Given the description of an element on the screen output the (x, y) to click on. 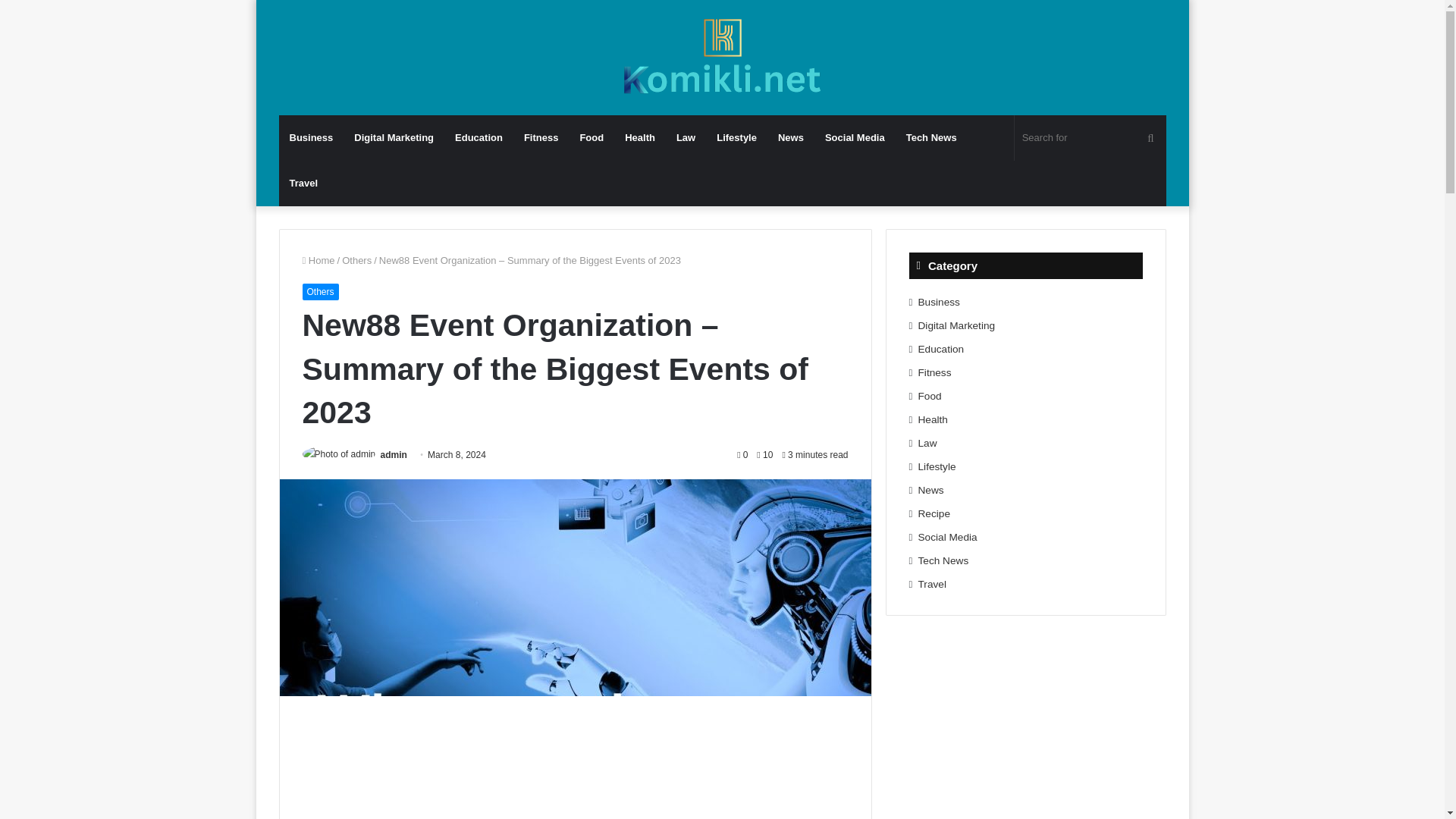
admin (393, 454)
Health (639, 137)
Others (319, 291)
Food (591, 137)
Lifestyle (736, 137)
admin (393, 454)
Education (478, 137)
Business (311, 137)
Komikli.net (721, 57)
Travel (304, 183)
